Given the description of an element on the screen output the (x, y) to click on. 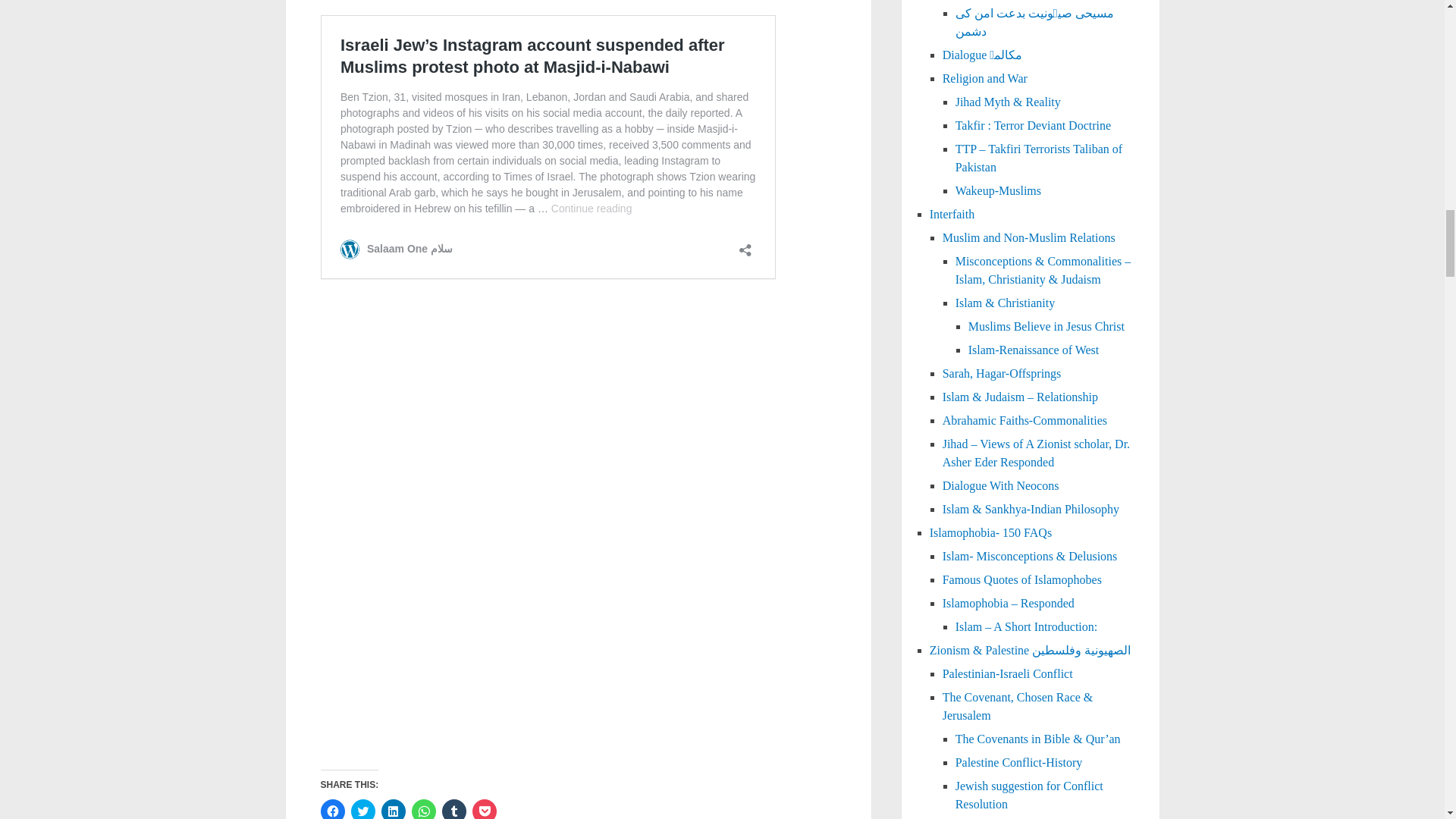
Click to share on Tumblr (453, 809)
Click to share on Facebook (331, 809)
Click to share on LinkedIn (392, 809)
Click to share on Twitter (362, 809)
Click to share on Pocket (483, 809)
Click to share on WhatsApp (422, 809)
